Given the description of an element on the screen output the (x, y) to click on. 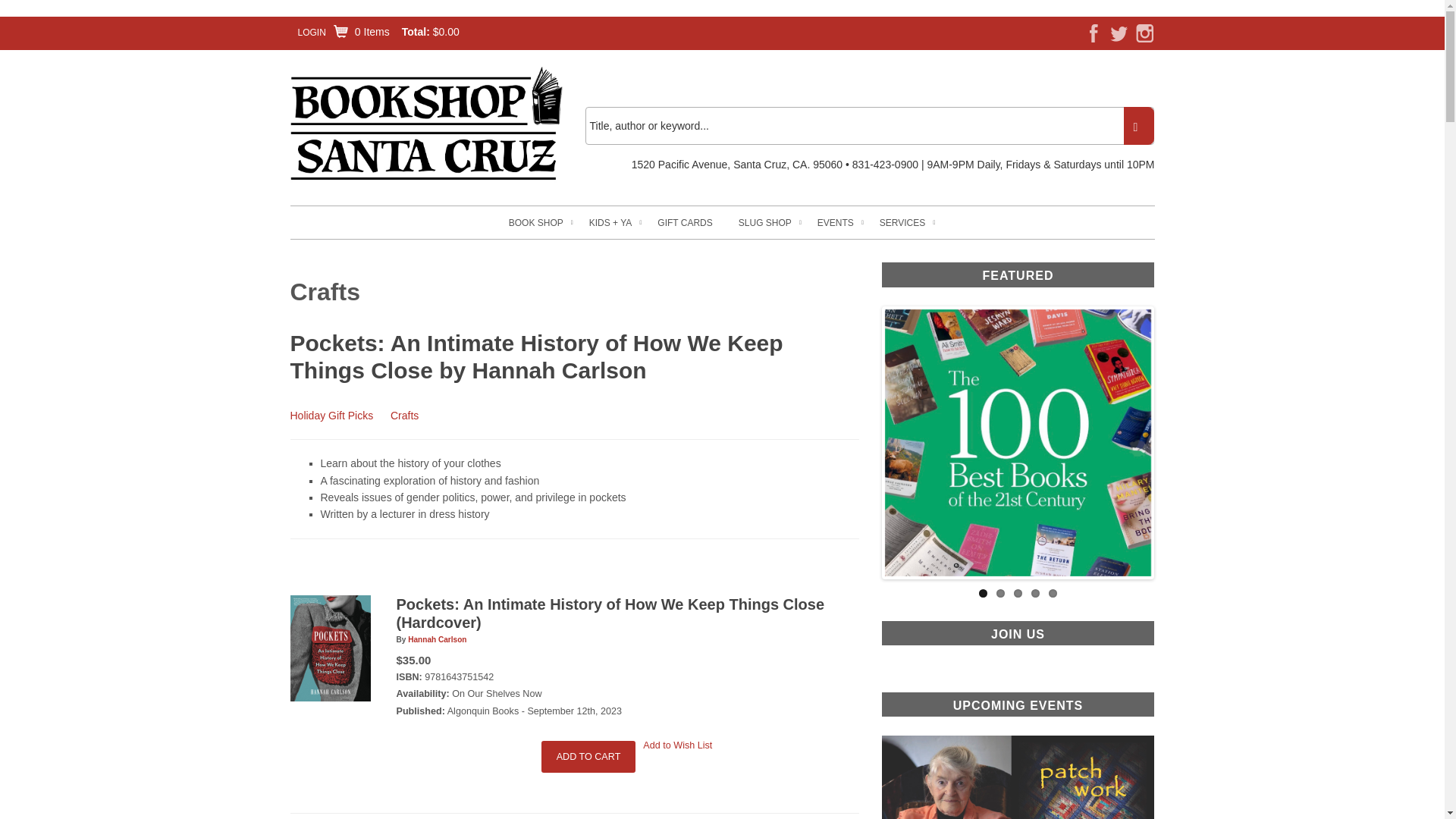
BOOK SHOP (535, 222)
Title, author or keyword... (869, 125)
Home (425, 124)
LOGIN (311, 32)
Add to Cart (588, 757)
